Given the description of an element on the screen output the (x, y) to click on. 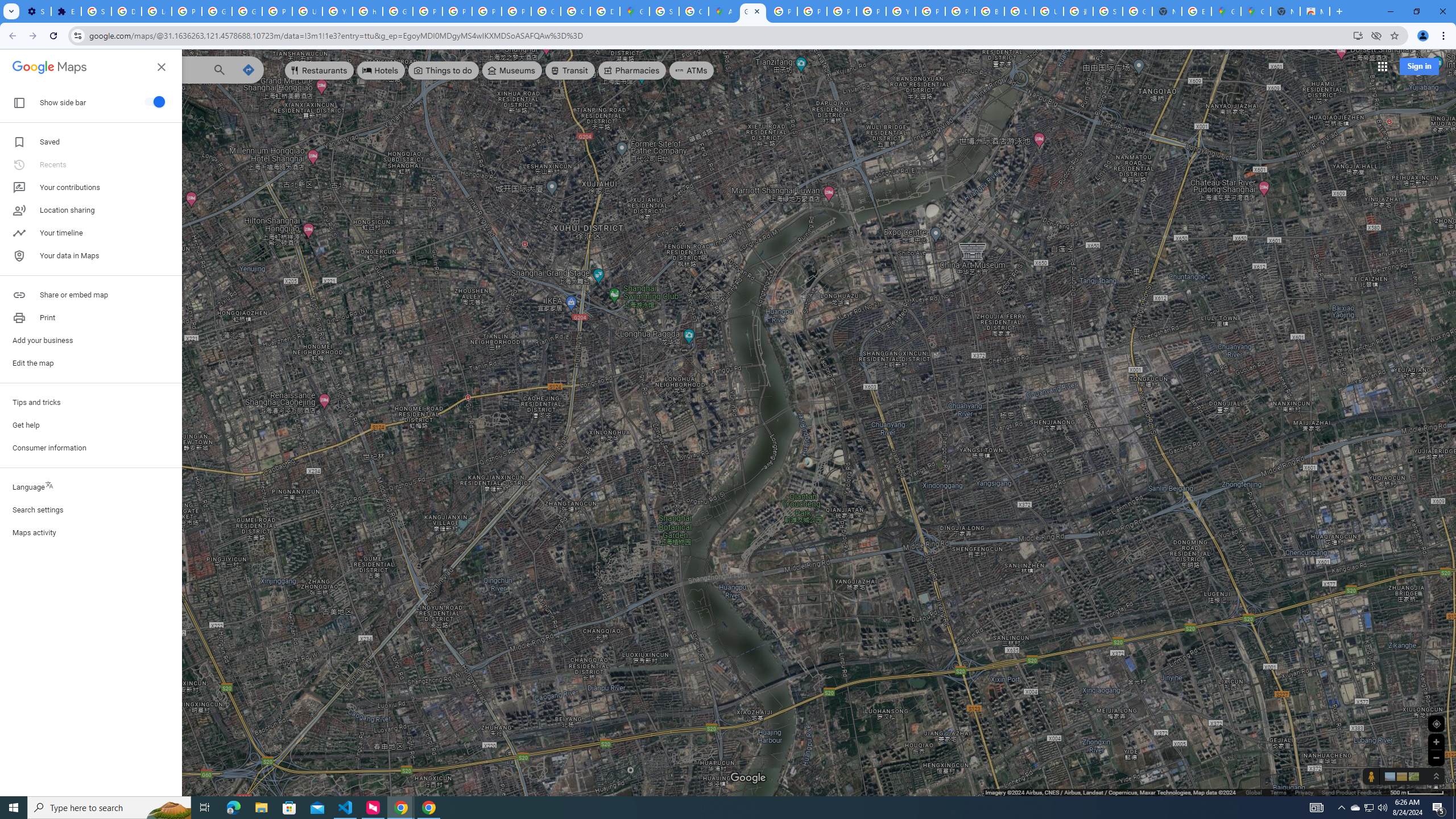
Google Maps (50, 66)
Museums (511, 70)
Show Street View coverage (1371, 776)
Language (90, 486)
Recents (20, 145)
Things to do (443, 70)
ATMs (691, 70)
Send Product Feedback (1351, 792)
Show Your Location (1436, 723)
